Given the description of an element on the screen output the (x, y) to click on. 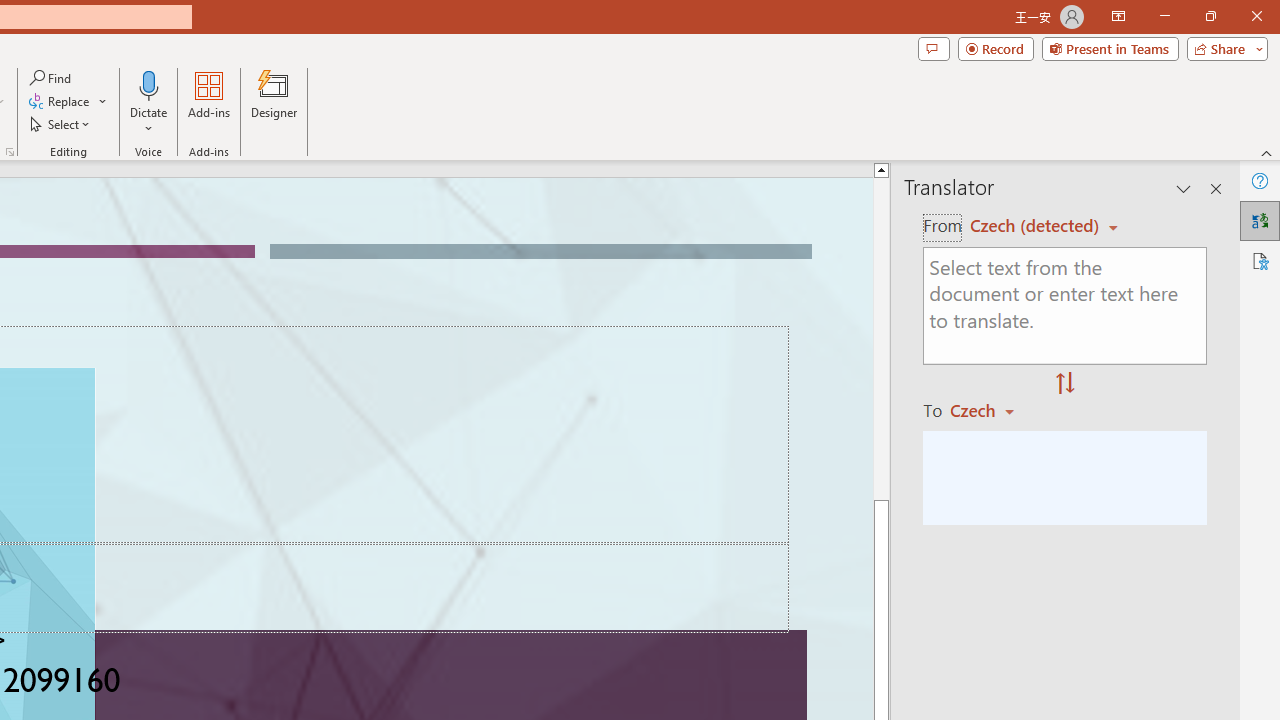
Czech (991, 409)
